Given the description of an element on the screen output the (x, y) to click on. 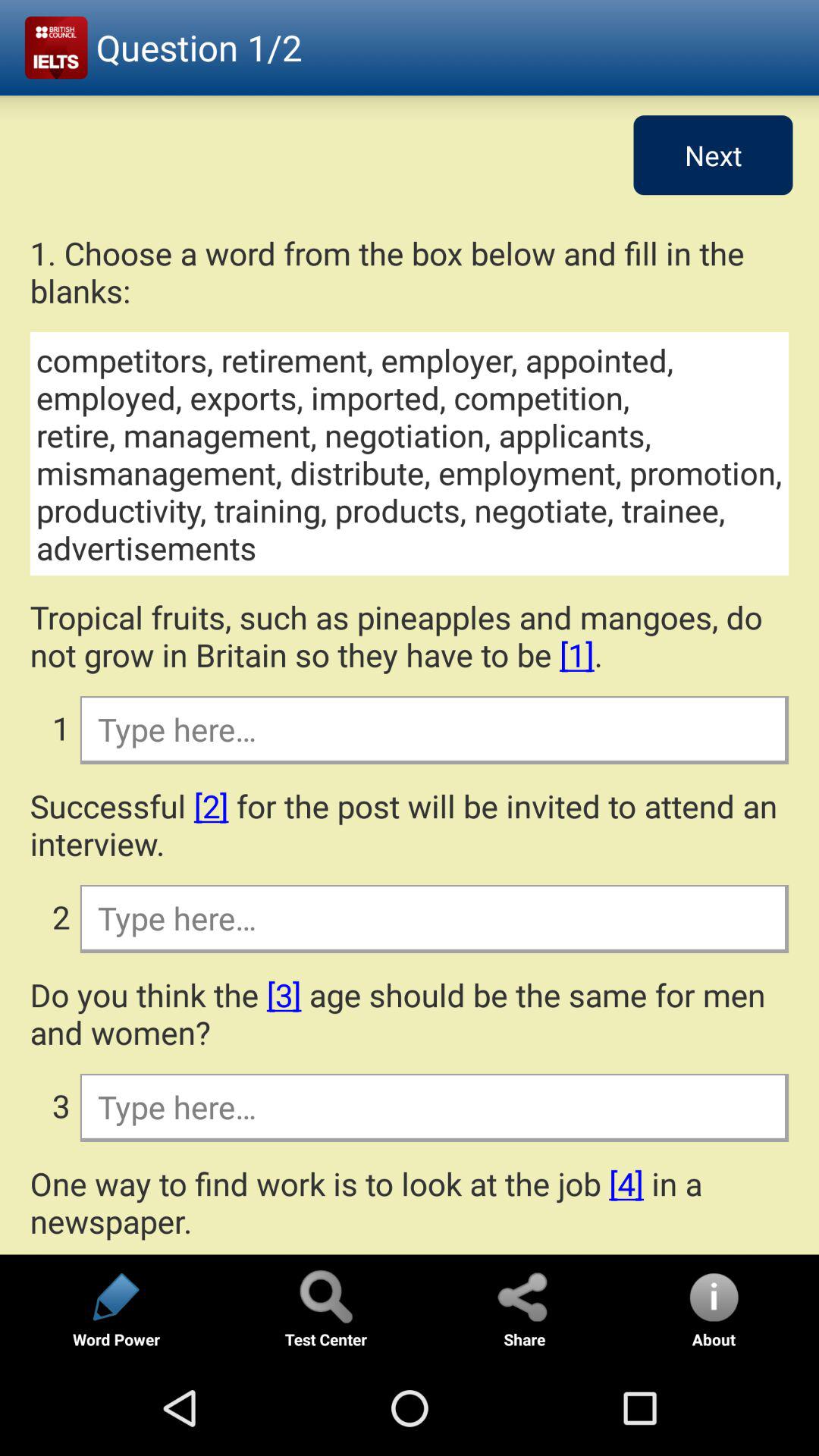
type box (432, 917)
